Given the description of an element on the screen output the (x, y) to click on. 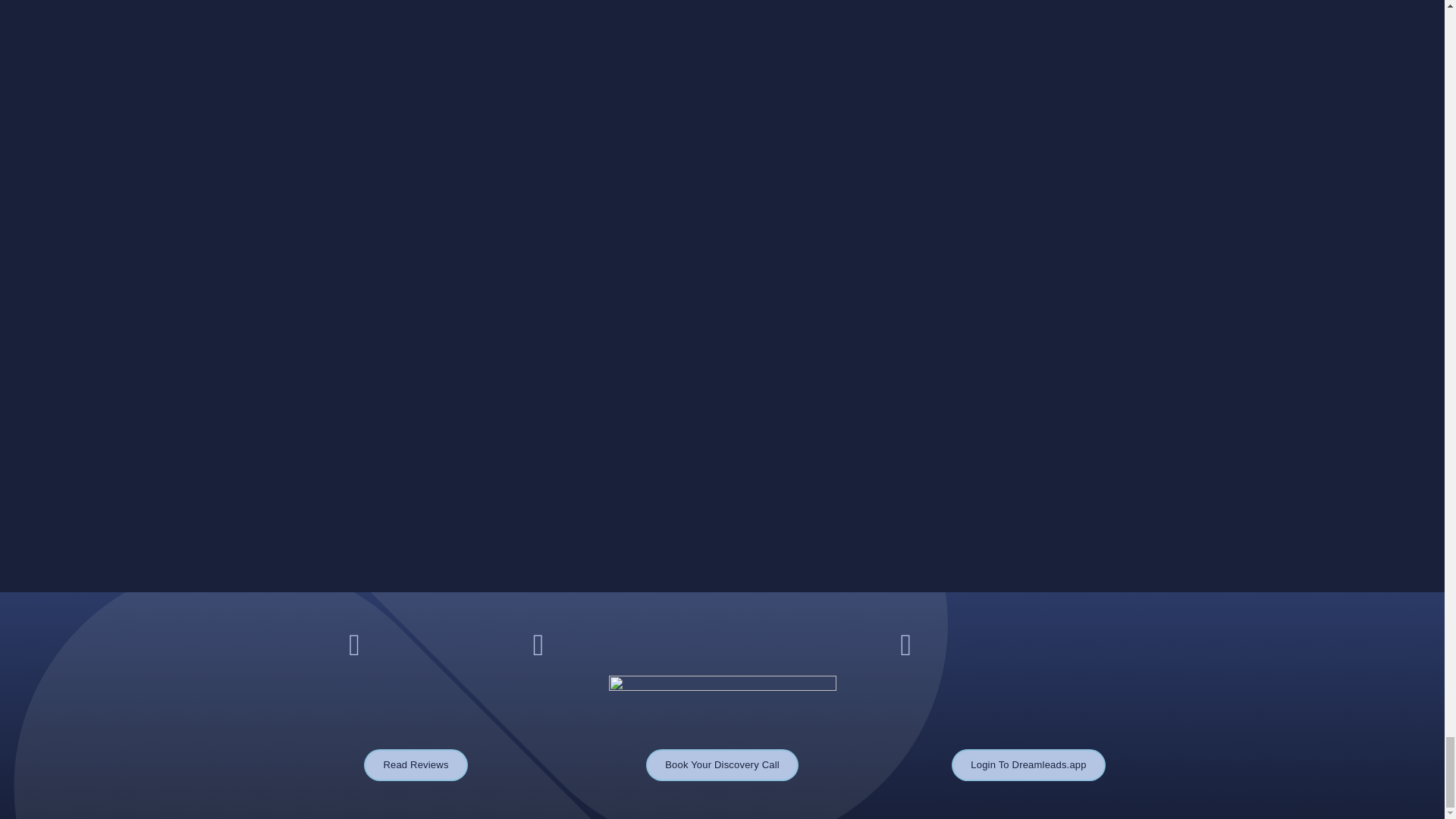
Login To Dreamleads.app (1028, 765)
X (538, 644)
Instagram (905, 644)
Read Reviews (415, 765)
Book Your Discovery Call (721, 765)
Facebook (354, 644)
